Given the description of an element on the screen output the (x, y) to click on. 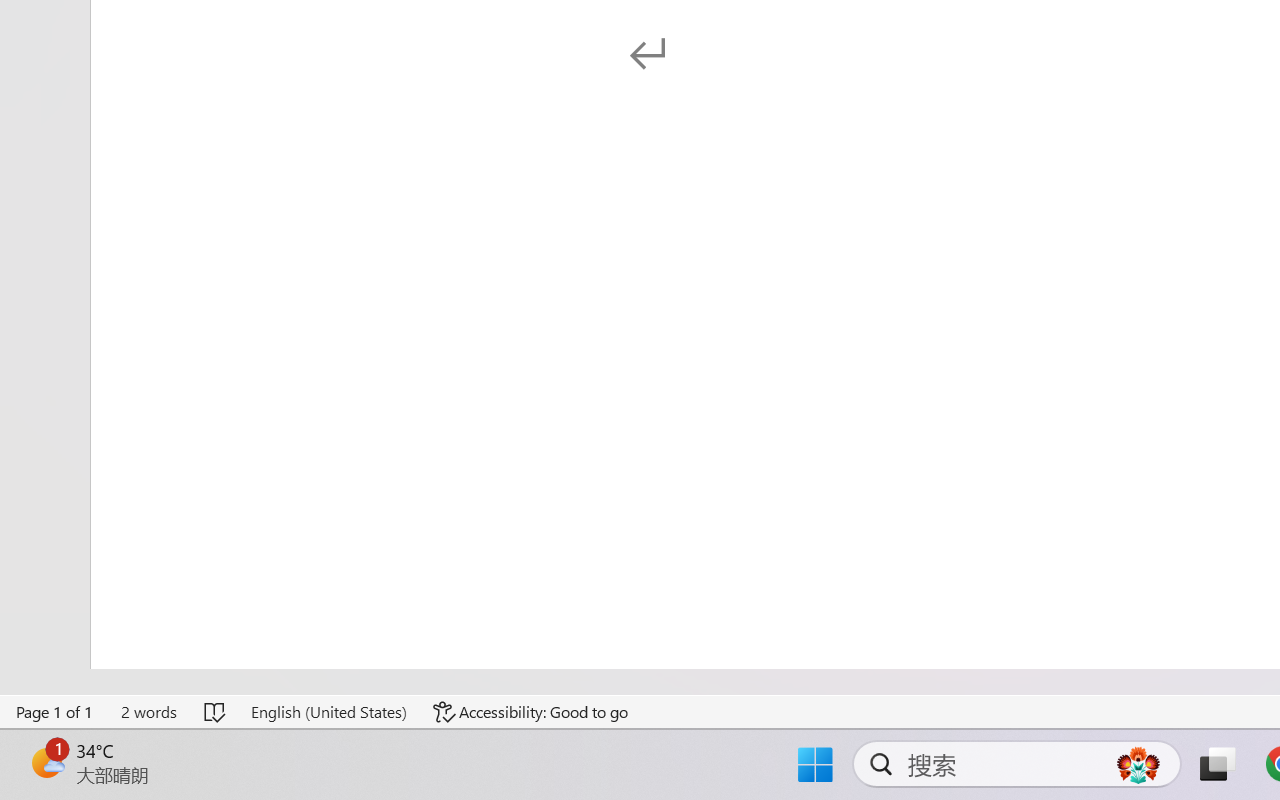
Accessibility Checker Accessibility: Good to go (531, 712)
Page Number Page 1 of 1 (55, 712)
Language English (United States) (328, 712)
Spelling and Grammar Check No Errors (216, 712)
AutomationID: BadgeAnchorLargeTicker (46, 762)
AutomationID: DynamicSearchBoxGleamImage (1138, 764)
